Given the description of an element on the screen output the (x, y) to click on. 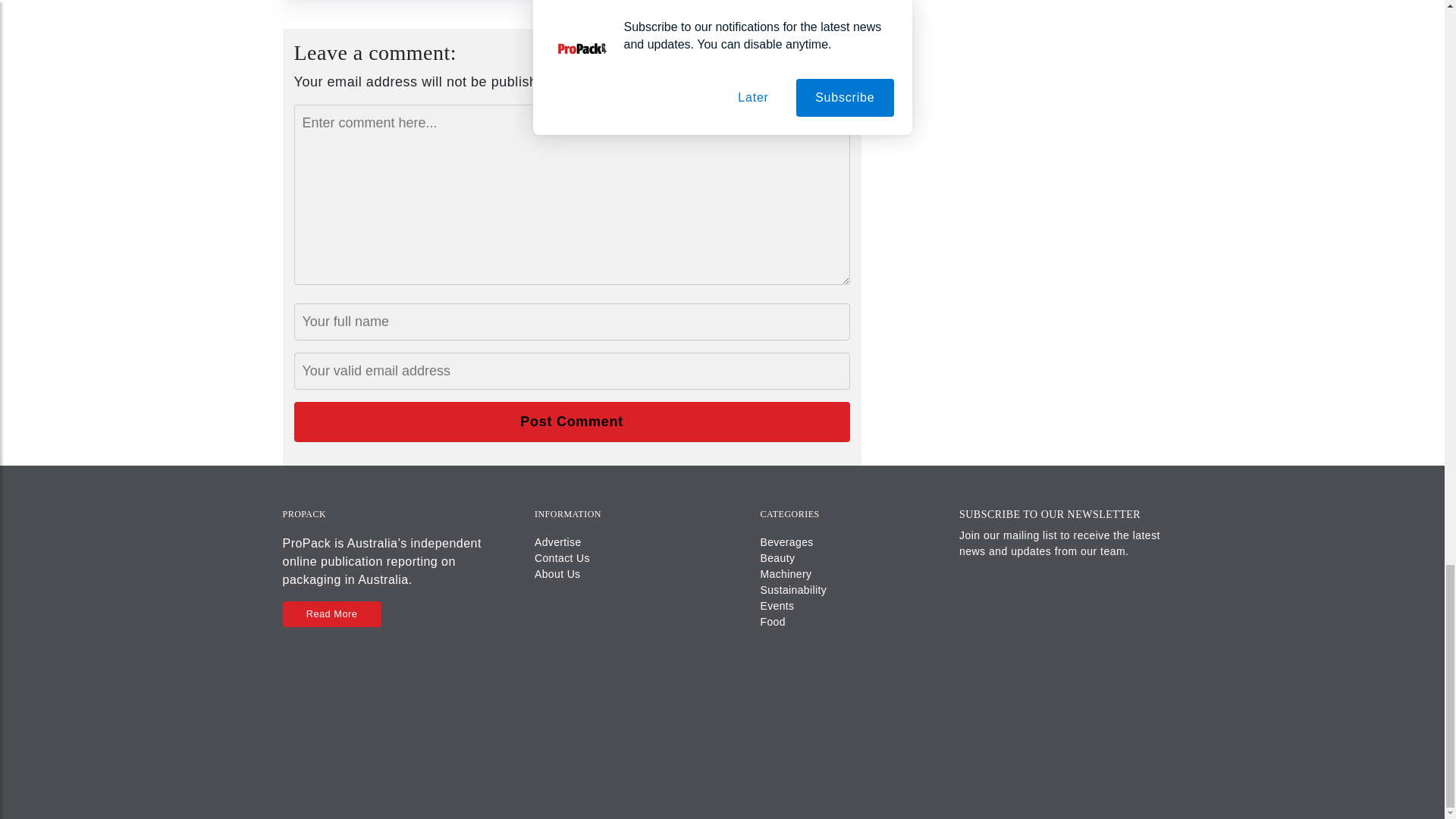
Contact Us (561, 558)
Post Comment (572, 422)
About Us (556, 573)
Read More (331, 613)
Advertise (557, 541)
Post Comment (572, 422)
